Given the description of an element on the screen output the (x, y) to click on. 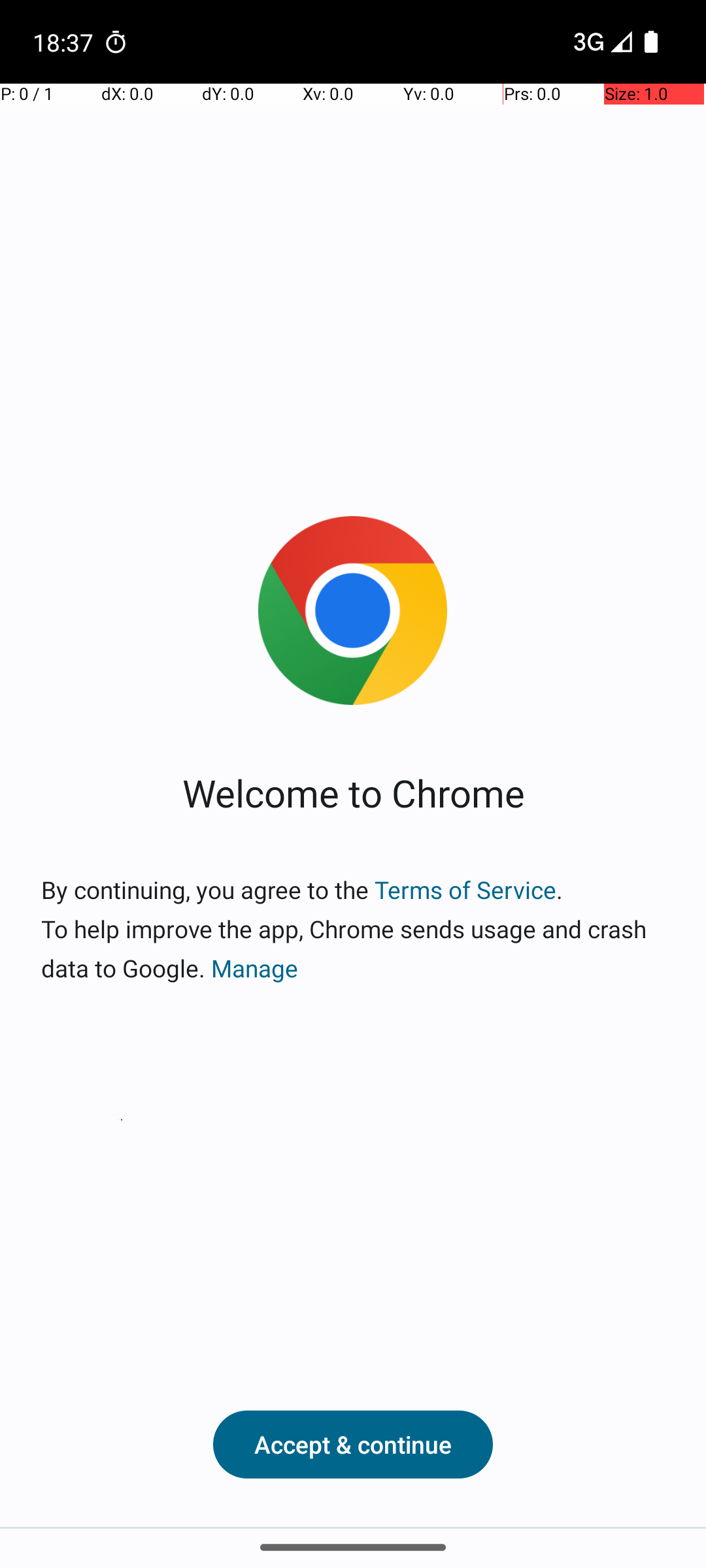
18:37 Element type: android.widget.TextView (64, 41)
